Given the description of an element on the screen output the (x, y) to click on. 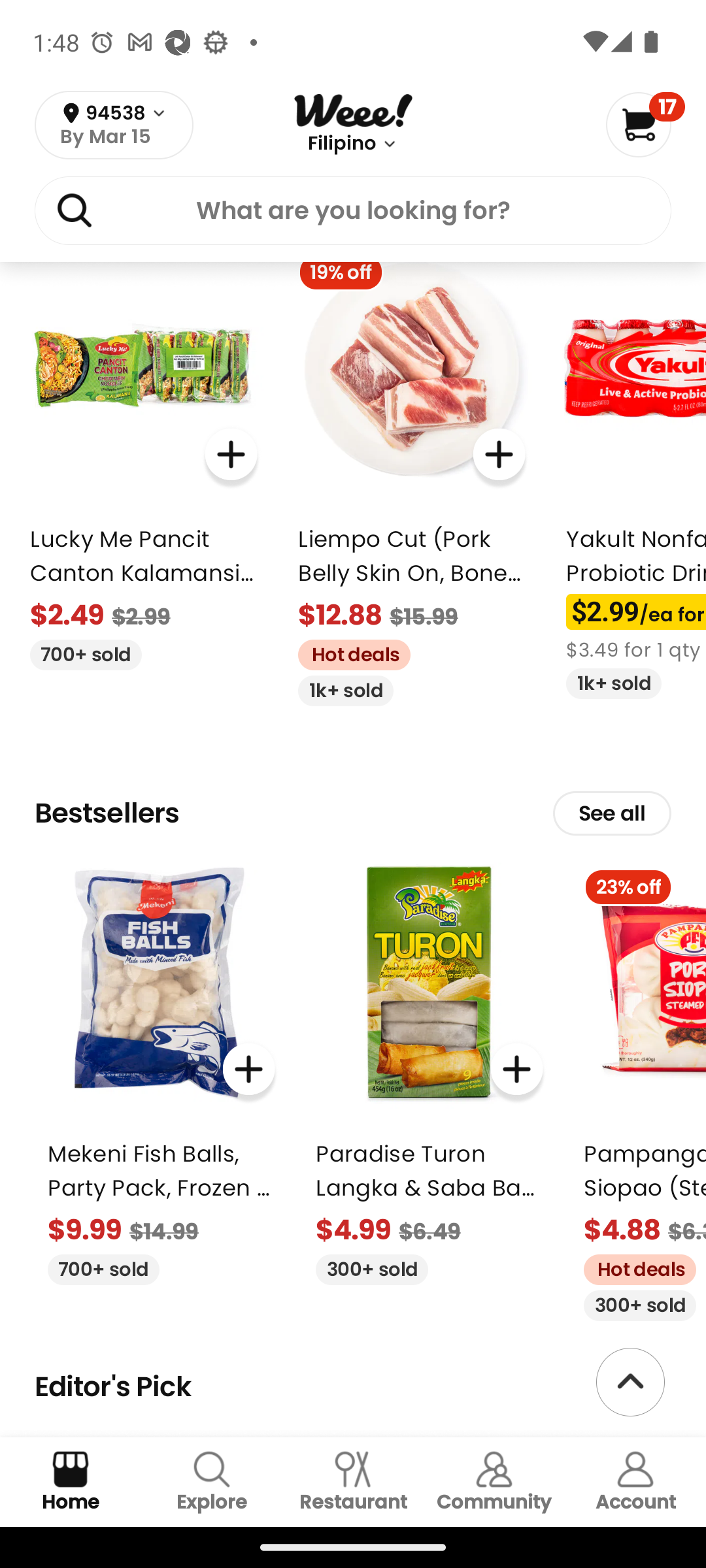
94538 By Mar 15 (113, 124)
17 (644, 124)
Filipino (341, 143)
What are you looking for? (353, 213)
What are you looking for? (352, 209)
Hot deals (347, 653)
Hot deals (632, 1267)
Home (70, 1482)
Explore (211, 1482)
Restaurant (352, 1482)
Community (493, 1482)
Account (635, 1482)
